Given the description of an element on the screen output the (x, y) to click on. 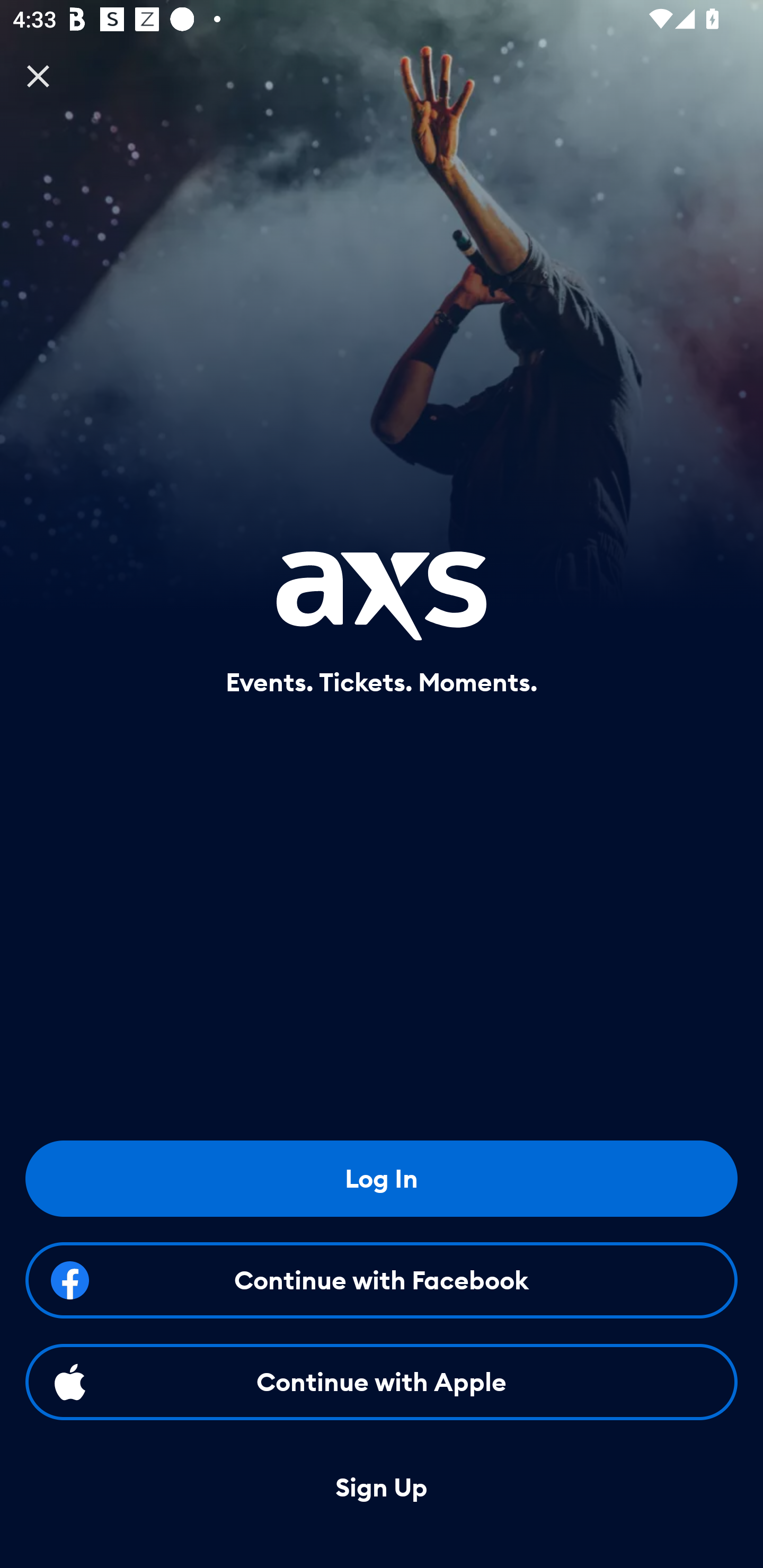
Log In (381, 1177)
Continue with Facebook (381, 1279)
Continue with Apple (381, 1381)
Sign Up (381, 1487)
